Given the description of an element on the screen output the (x, y) to click on. 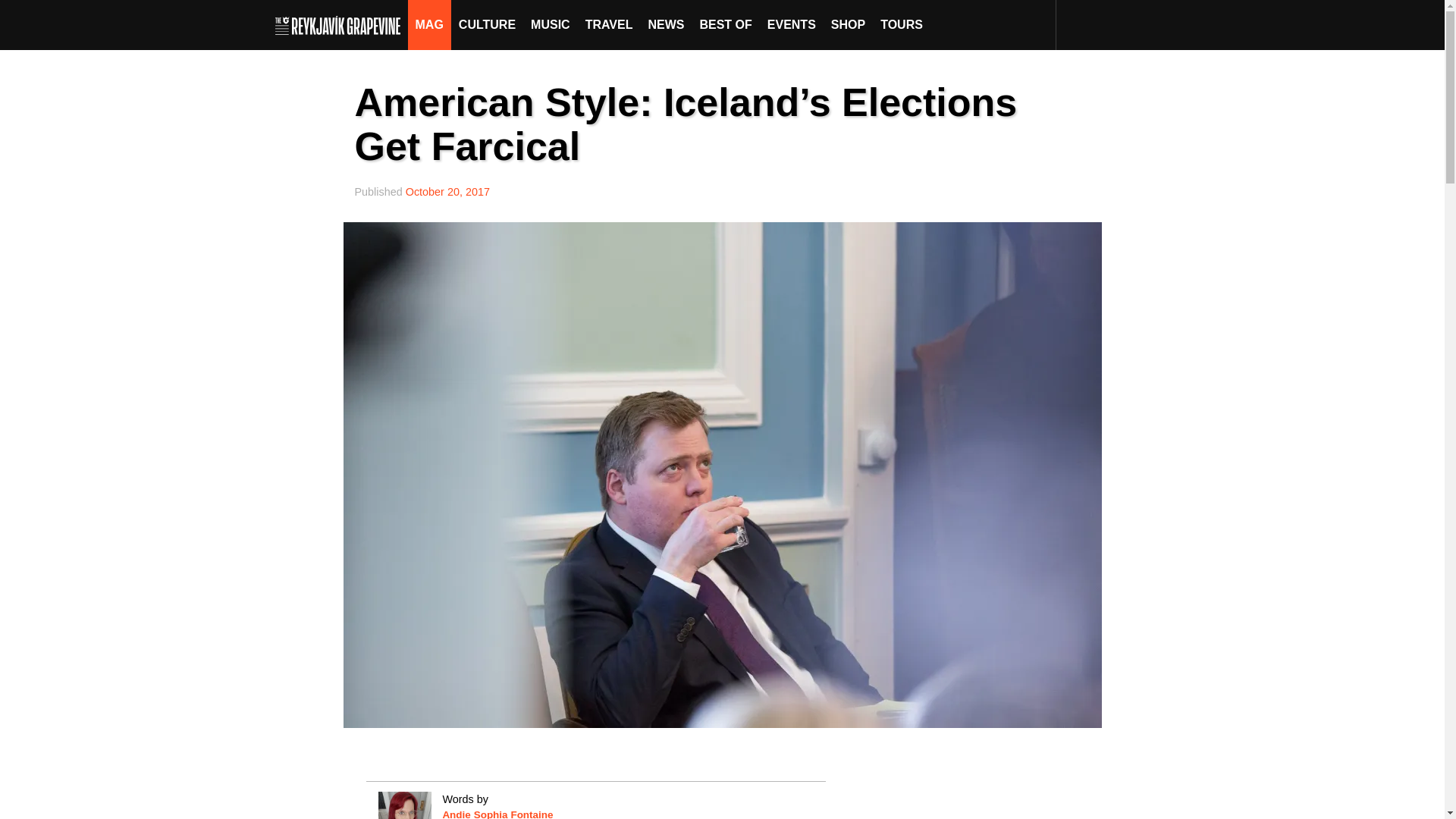
The Reykjavik Grapevine (341, 24)
TOURS (901, 24)
MUSIC (550, 24)
Posts by Andie Sophia Fontaine (497, 814)
Andie Sophia Fontaine (497, 814)
BEST OF (724, 24)
SHOP (848, 24)
NEWS (665, 24)
EVENTS (792, 24)
CULTURE (486, 24)
TRAVEL (609, 24)
